Given the description of an element on the screen output the (x, y) to click on. 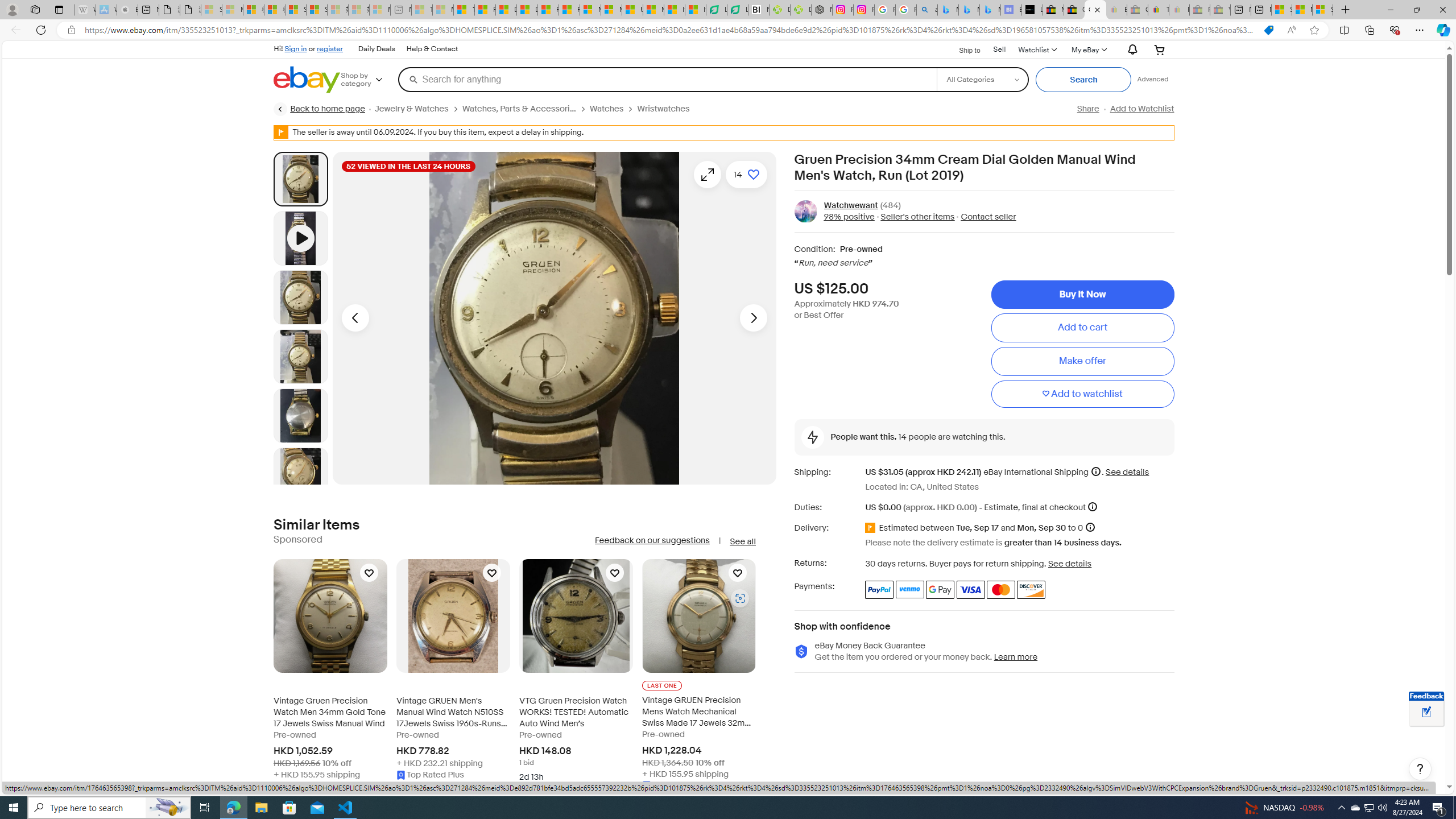
See details for shipping (1126, 472)
Wristwatches (667, 108)
Watches, Parts & Accessories (518, 108)
Help & Contact (432, 49)
Descarga Driver Updater (800, 9)
Venmo (909, 588)
Master Card (999, 588)
